Given the description of an element on the screen output the (x, y) to click on. 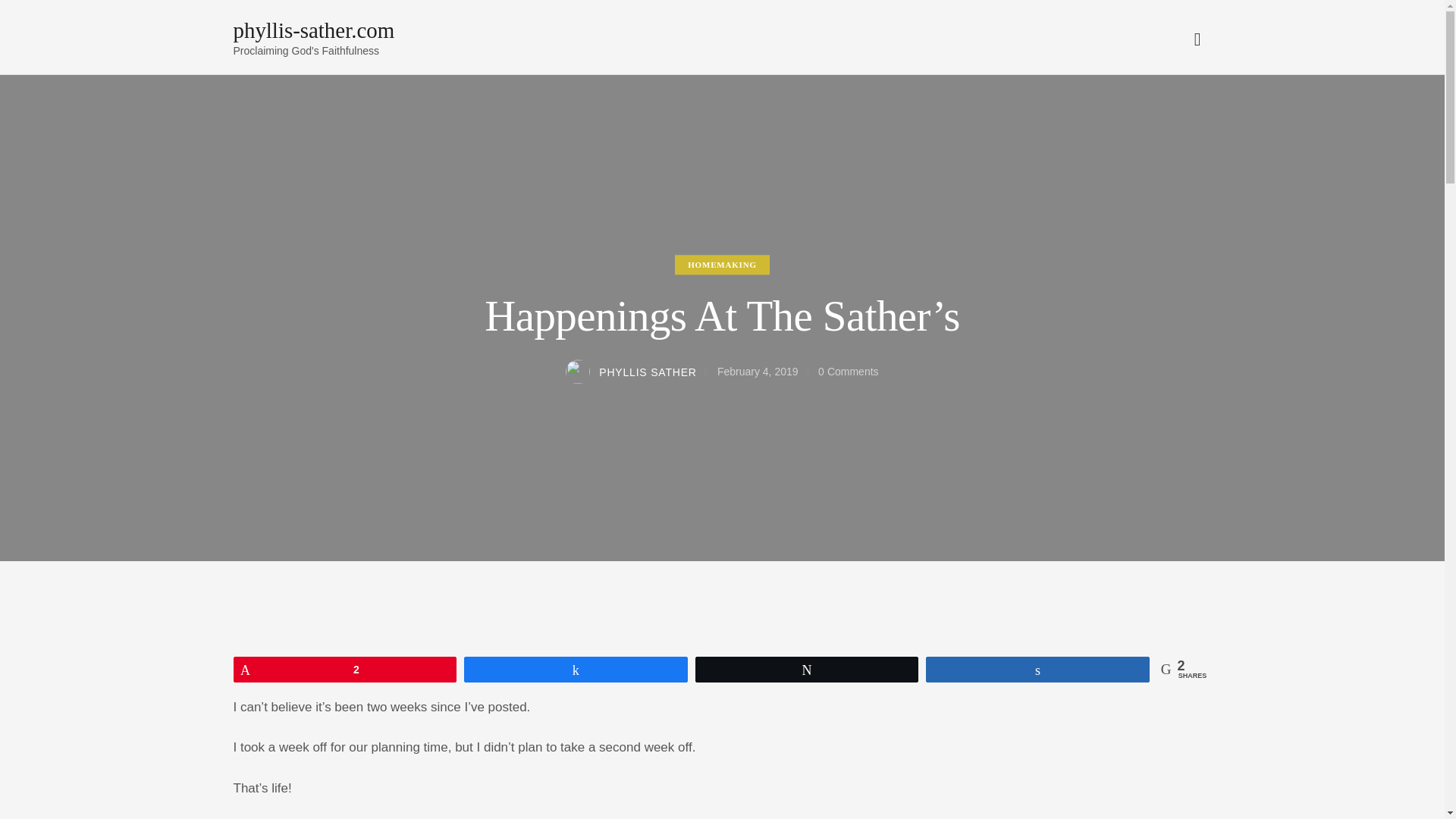
HOMEMAKING (722, 264)
PHYLLIS SATHER (640, 372)
2 (343, 668)
0Comments (848, 372)
